Given the description of an element on the screen output the (x, y) to click on. 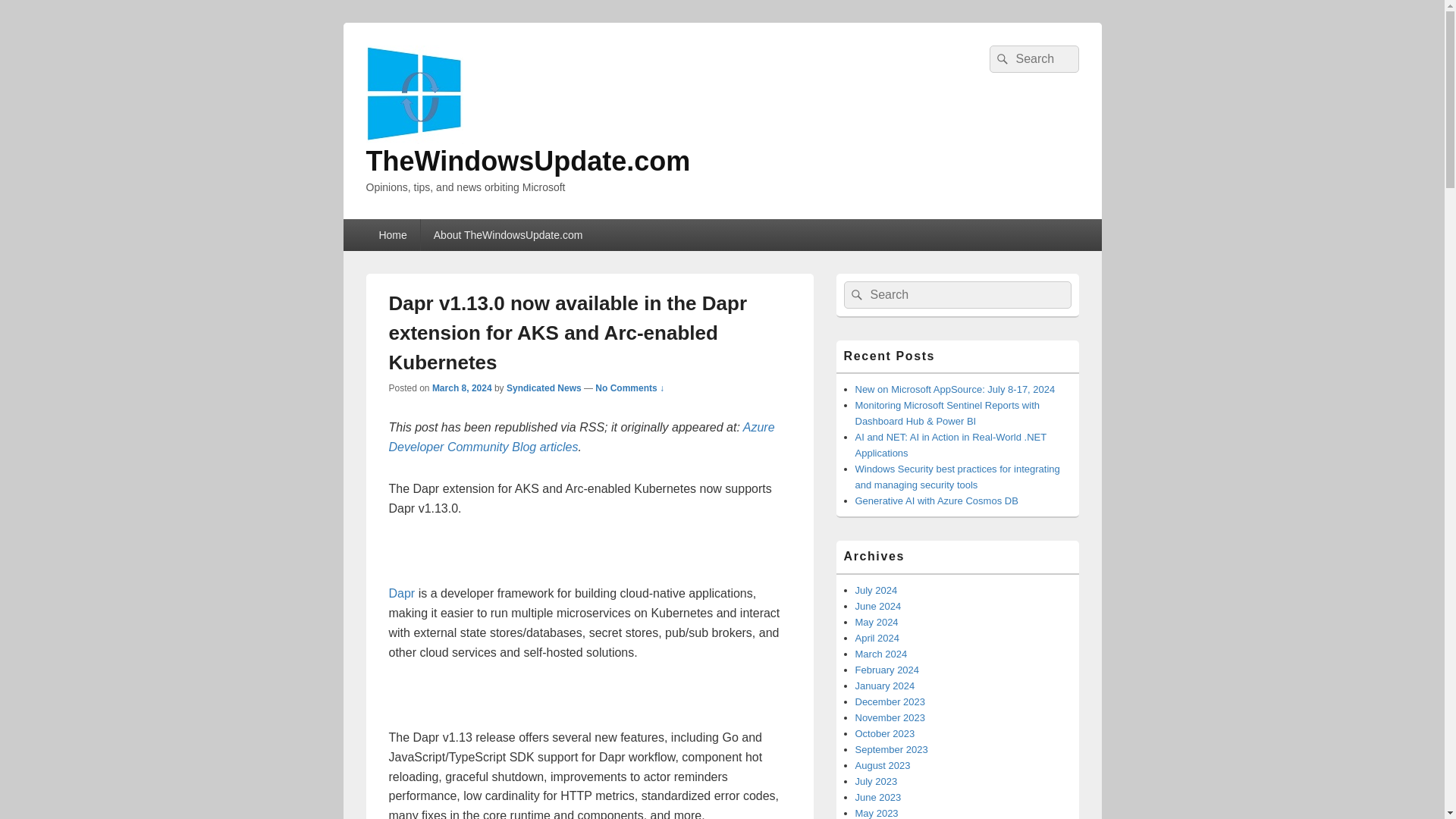
Search for: (956, 294)
New on Microsoft AppSource: July 8-17, 2024 (955, 389)
Generative AI with Azure Cosmos DB (936, 500)
Home (392, 234)
Syndicated News (543, 388)
About TheWindowsUpdate.com (507, 234)
AI and NET: AI in Action in Real-World .NET Applications (951, 444)
March 8, 2024 (462, 388)
Azure Developer Community Blog articles (581, 436)
View all posts by Syndicated News (543, 388)
12:28 PM (462, 388)
Search for: (1033, 58)
TheWindowsUpdate.com (527, 160)
Dapr (401, 593)
